Given the description of an element on the screen output the (x, y) to click on. 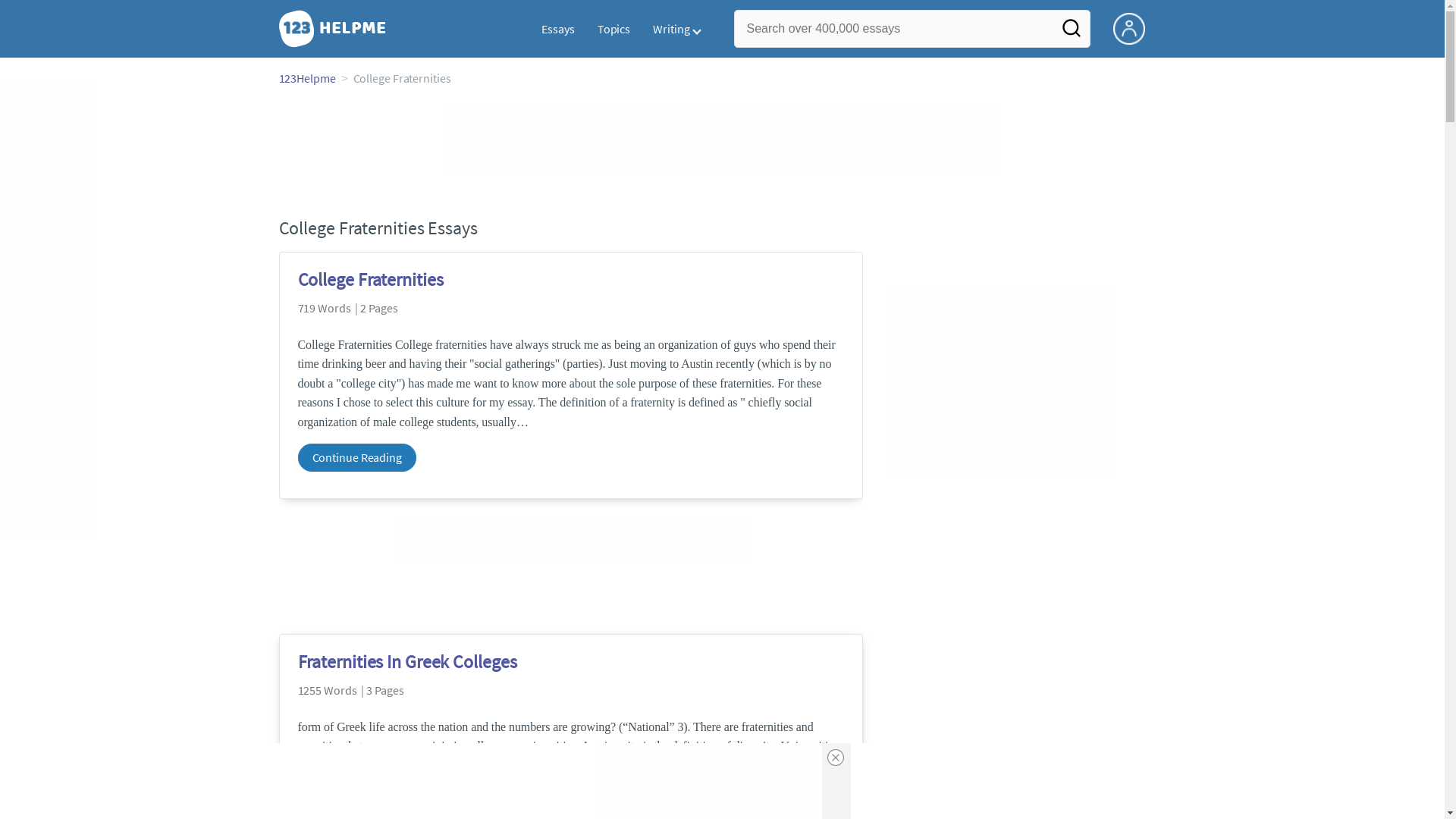
Continue Reading Element type: text (356, 457)
3rd party ad content Element type: hover (569, 539)
3rd party ad content Element type: hover (999, 378)
Essays Element type: text (557, 28)
Writing Element type: text (675, 28)
Fraternities In Greek Colleges Element type: text (570, 661)
3rd party ad content Element type: hover (721, 136)
College Fraternities Element type: text (570, 279)
3rd party ad content Element type: hover (48, 308)
123Helpme Element type: text (307, 77)
Topics Element type: text (613, 28)
